Given the description of an element on the screen output the (x, y) to click on. 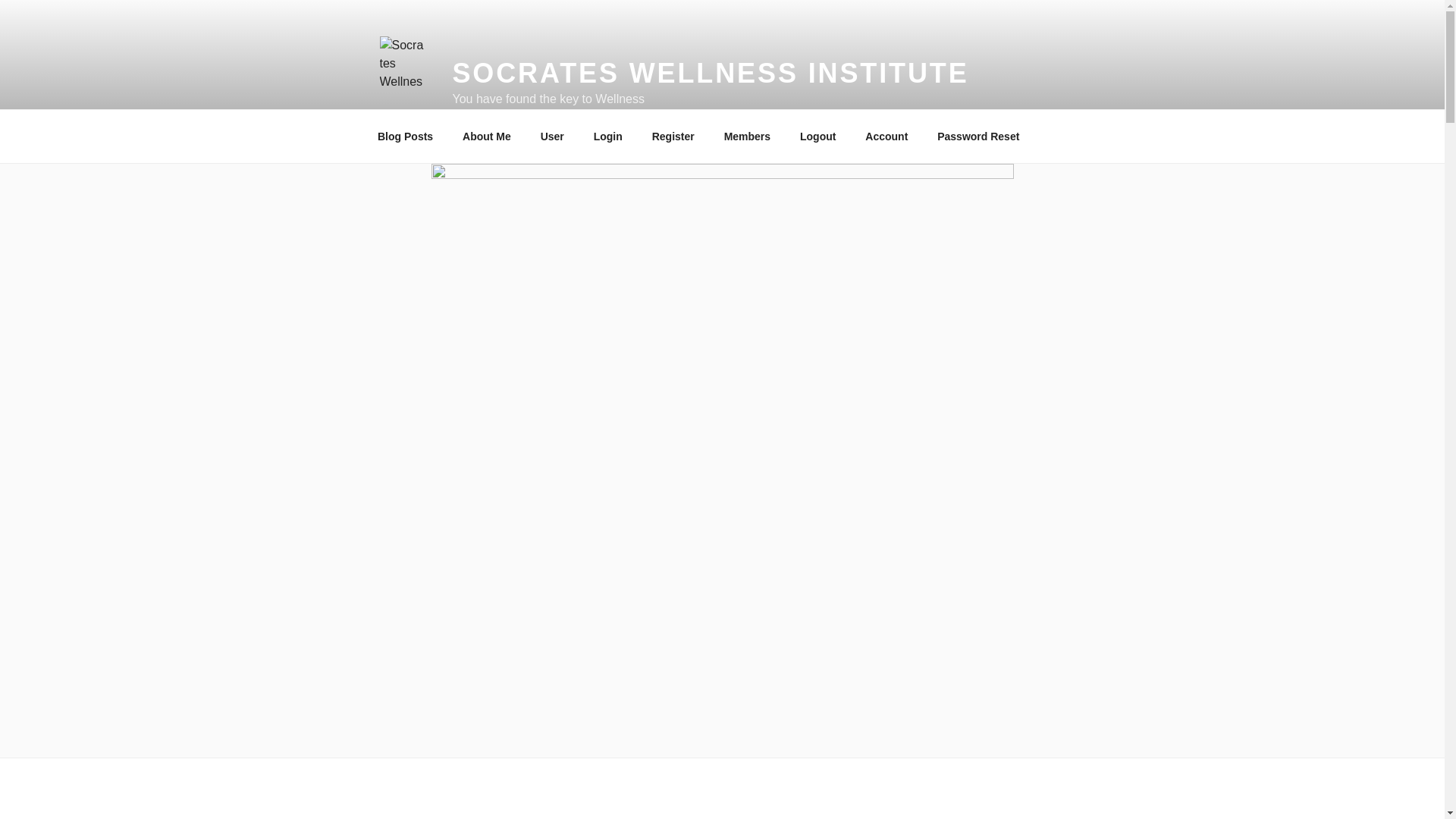
About Me (486, 136)
Blog Posts (404, 136)
Password Reset (978, 136)
Members (746, 136)
Login (606, 136)
Account (886, 136)
SOCRATES WELLNESS INSTITUTE (709, 72)
User (551, 136)
Logout (817, 136)
Register (673, 136)
